Given the description of an element on the screen output the (x, y) to click on. 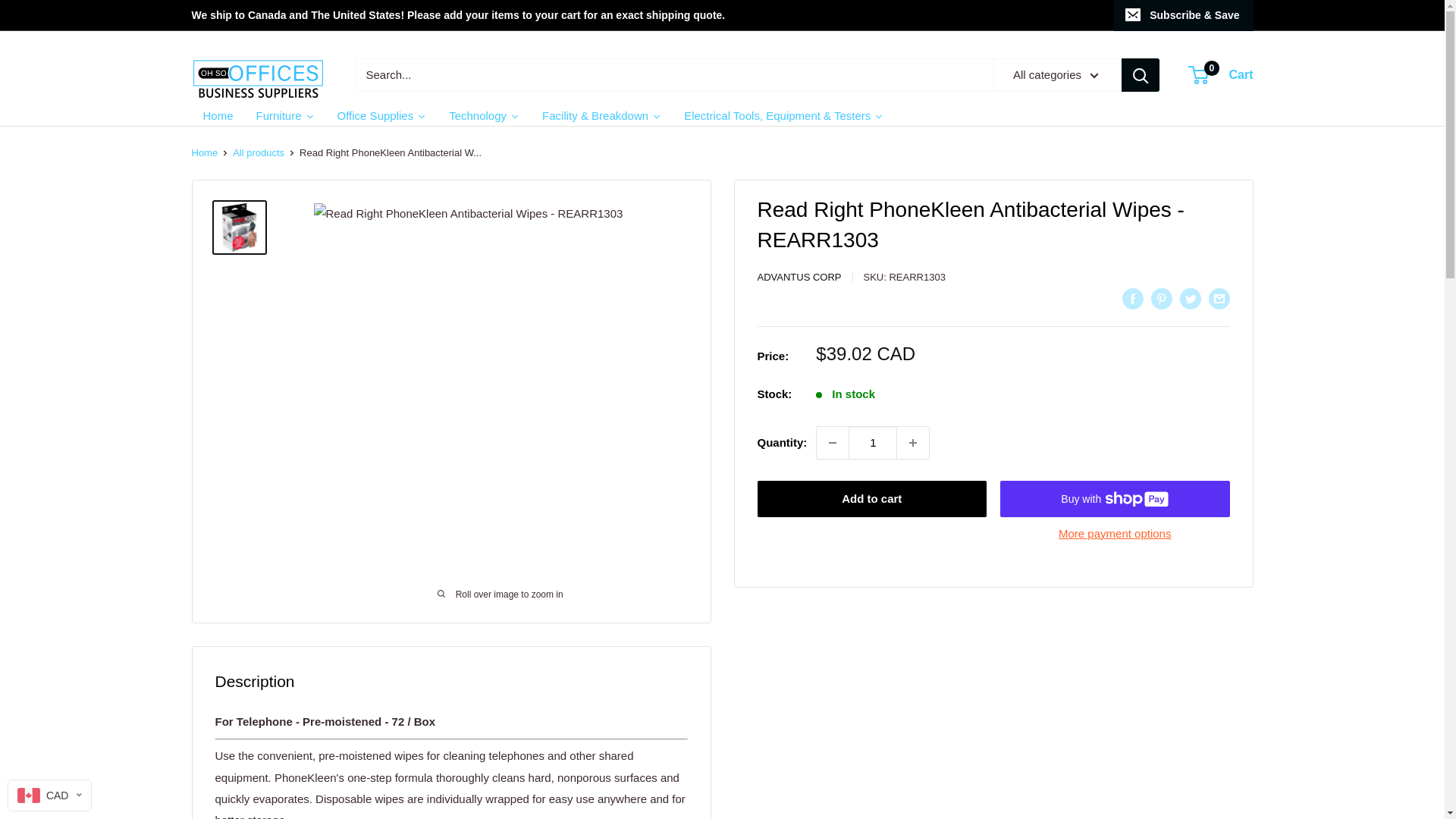
Home (203, 152)
Furniture (285, 115)
Decrease quantity by 1 (832, 442)
Furniture  (285, 115)
Office Supplies (382, 115)
1 (872, 442)
Technology (484, 115)
Increase quantity by 1 (1220, 74)
Home (912, 442)
All products (217, 115)
Home (257, 152)
Technology (217, 115)
Office Supplies (484, 115)
